Given the description of an element on the screen output the (x, y) to click on. 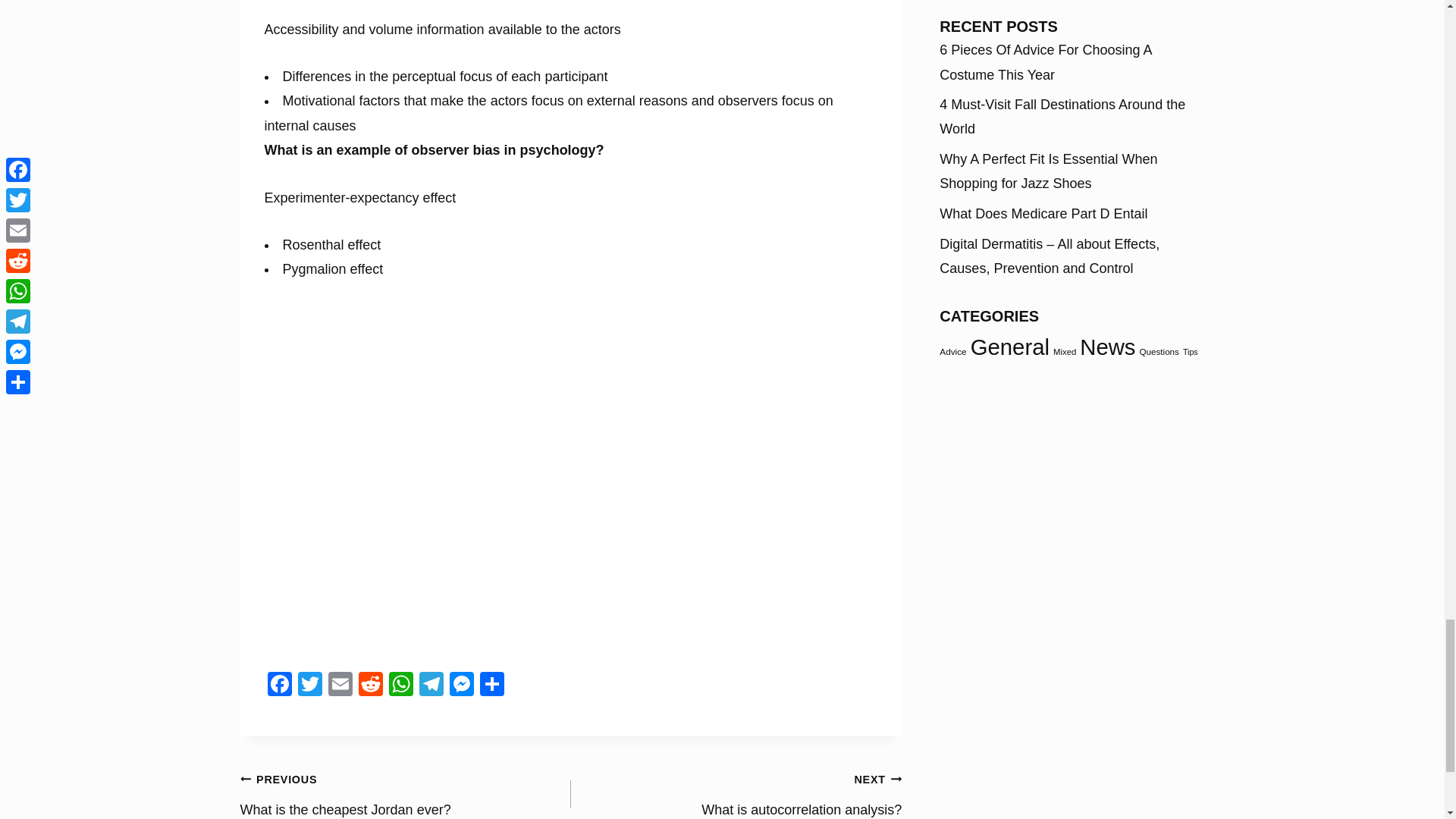
WhatsApp (399, 685)
Email (735, 792)
Messenger (339, 685)
Messenger (460, 685)
Facebook (460, 685)
WhatsApp (278, 685)
Telegram (399, 685)
Reddit (429, 685)
